Given the description of an element on the screen output the (x, y) to click on. 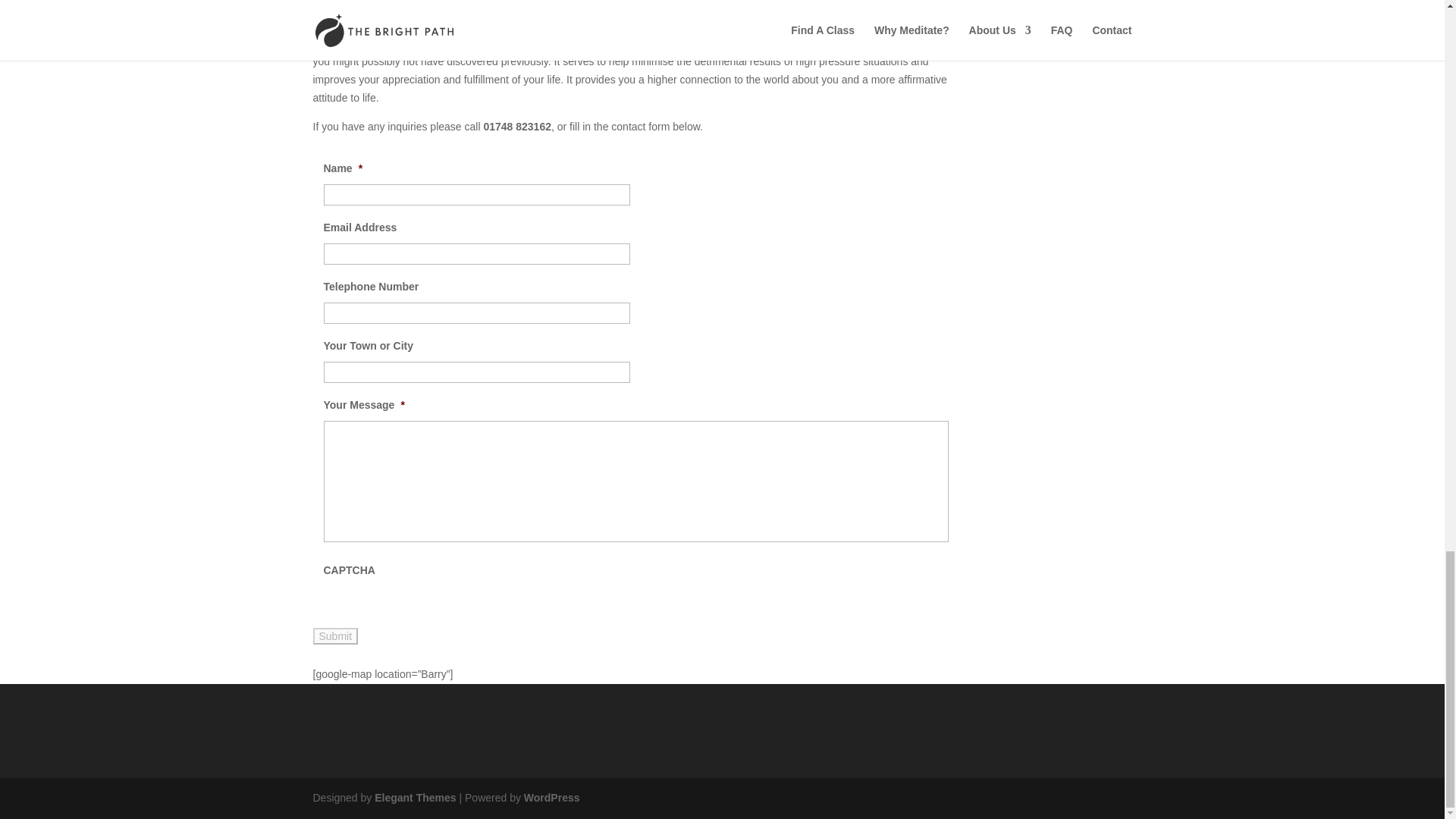
WordPress (551, 797)
Elegant Themes (414, 797)
Submit (335, 636)
Submit (335, 636)
Premium WordPress Themes (414, 797)
